Given the description of an element on the screen output the (x, y) to click on. 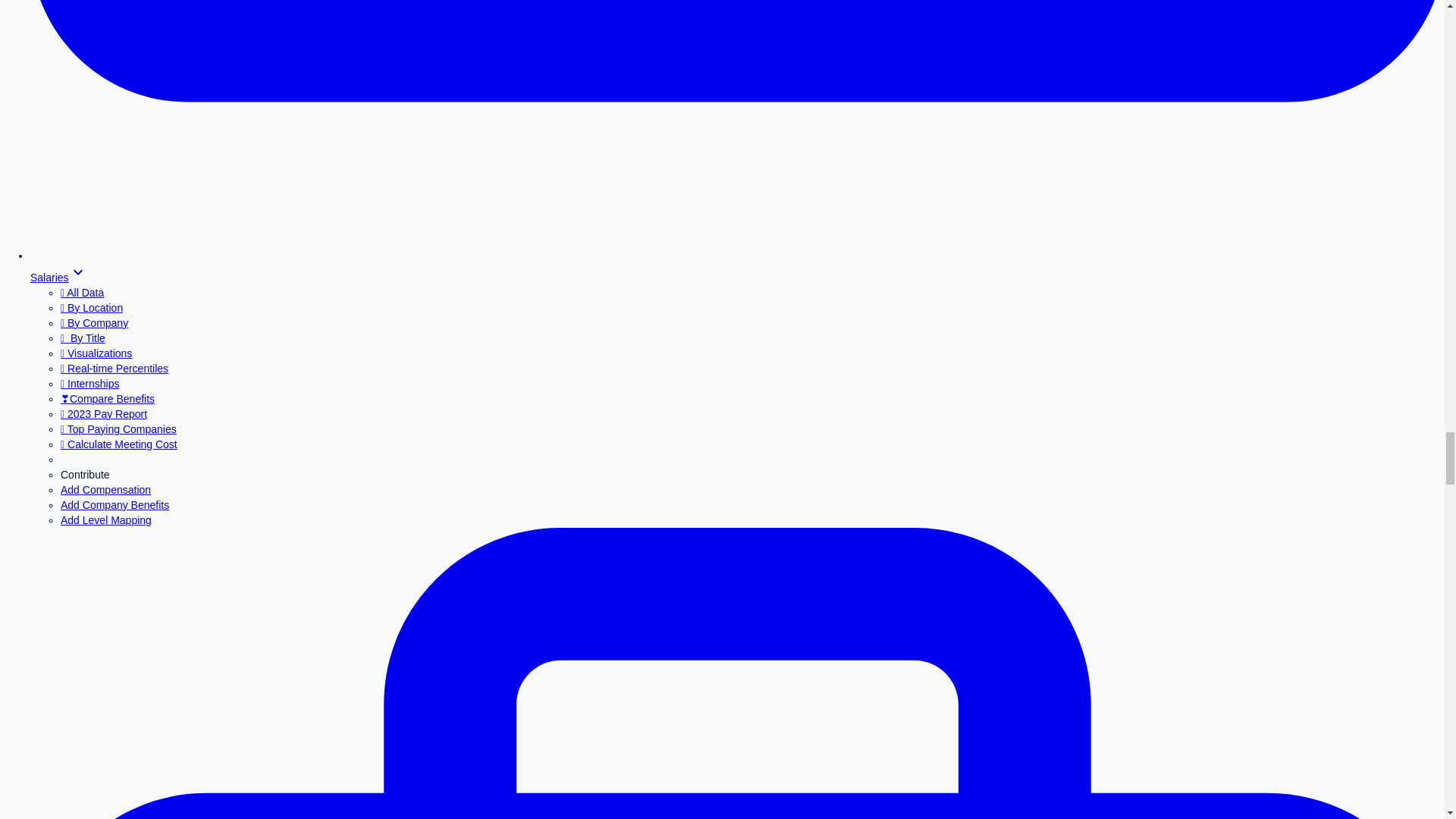
Add Company Benefits (114, 504)
Add Compensation (106, 490)
